Given the description of an element on the screen output the (x, y) to click on. 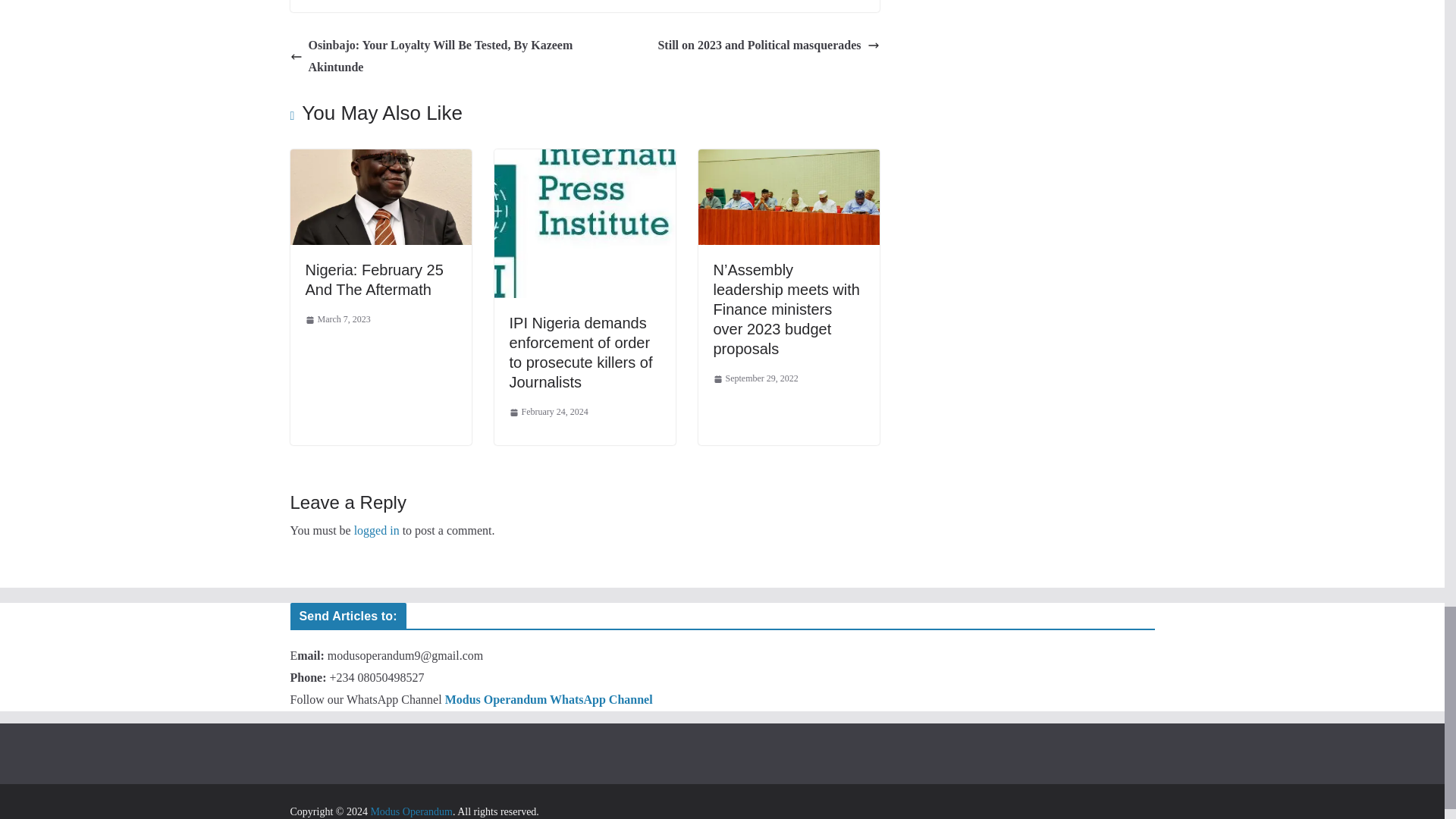
Nigeria: February 25 And The Aftermath (373, 279)
Osinbajo: Your Loyalty Will Be Tested, By Kazeem Akintunde (432, 56)
February 24, 2024 (548, 412)
Still on 2023 and Political masquerades (768, 45)
March 7, 2023 (336, 320)
